Given the description of an element on the screen output the (x, y) to click on. 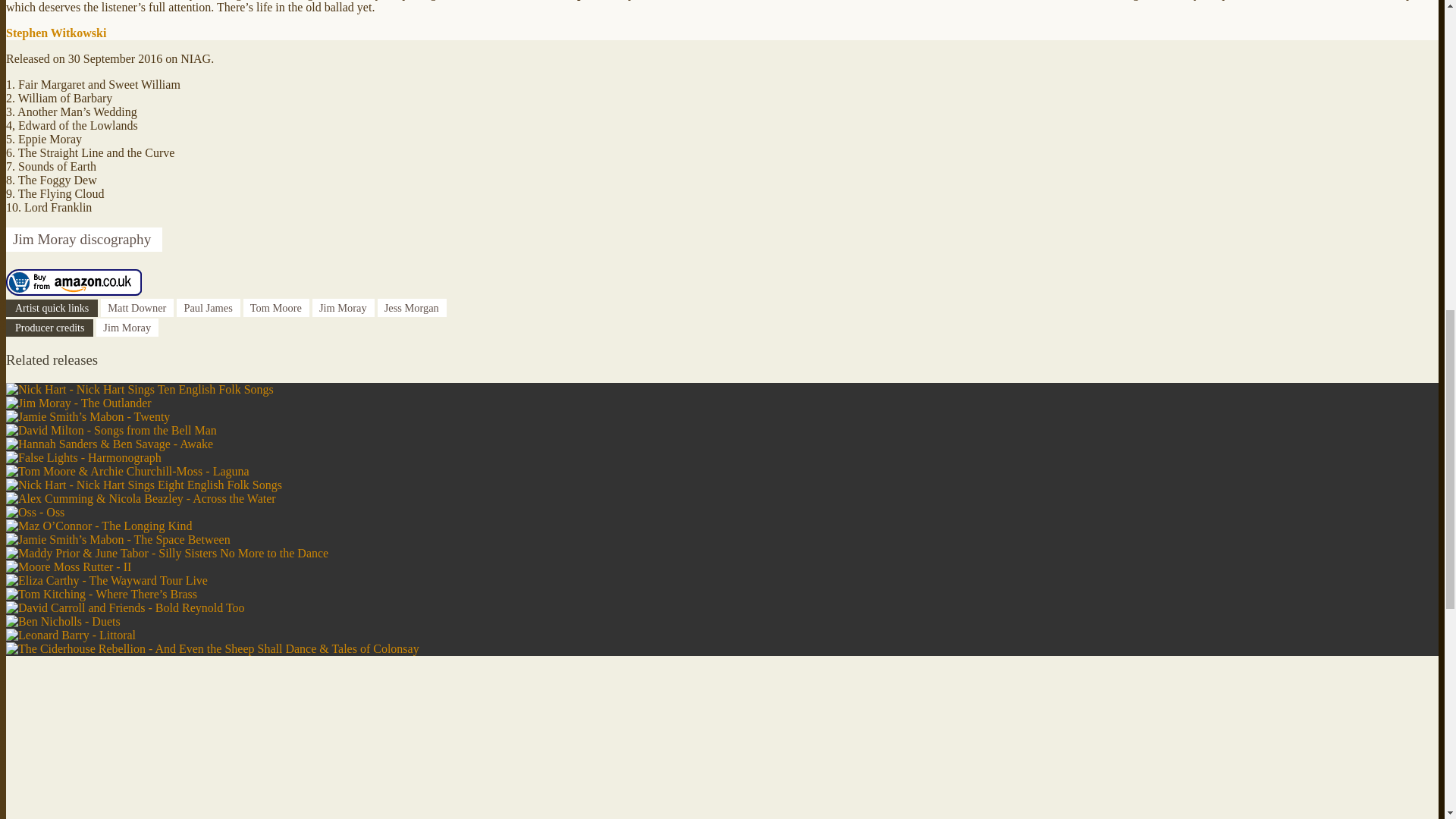
Matt Downer (136, 307)
See more reviews by Stephen Witkowski (55, 32)
Jim Moray discography (83, 238)
Tom Moore (275, 307)
Jim Moray (127, 327)
Stephen Witkowski (55, 32)
Paul James (208, 307)
Jess Morgan (411, 307)
Jim Moray (343, 307)
